Given the description of an element on the screen output the (x, y) to click on. 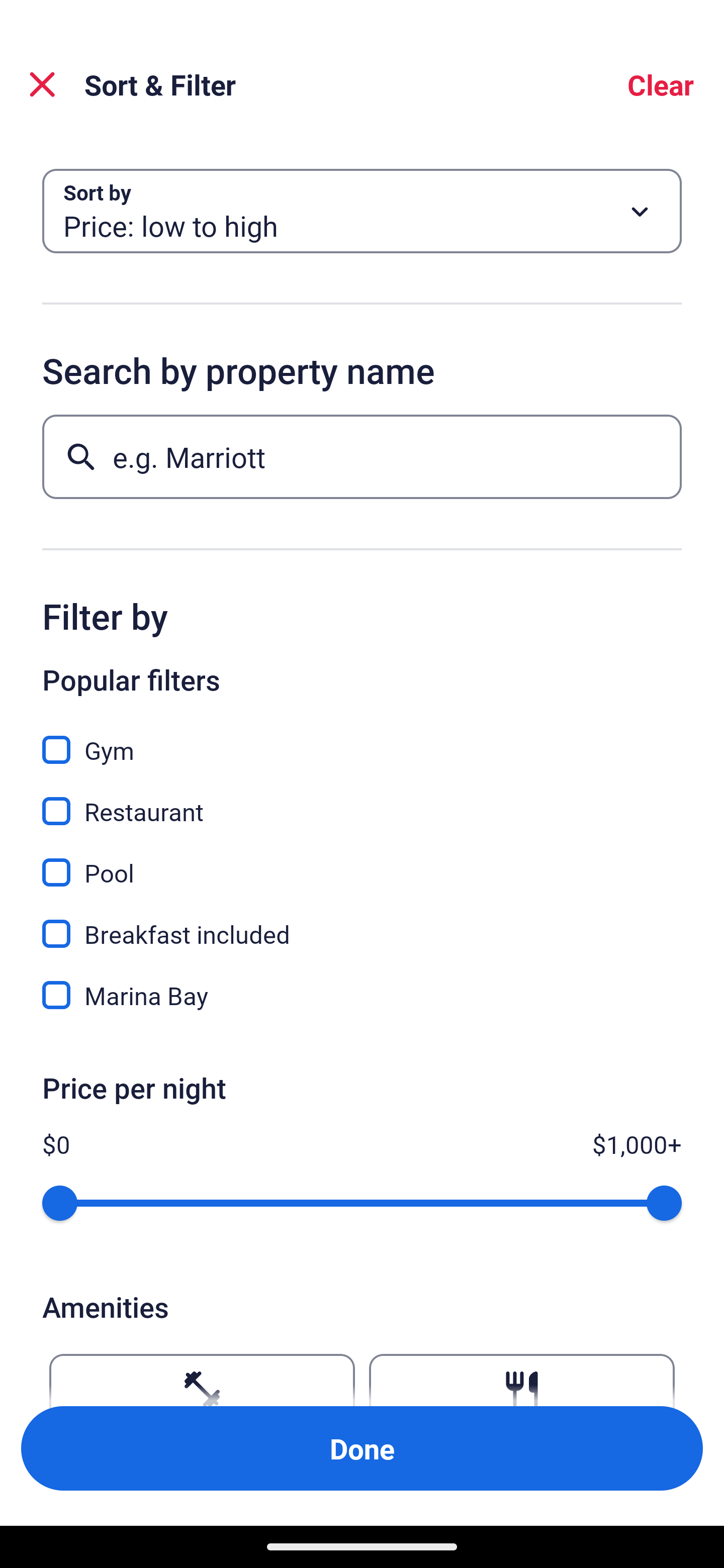
Close Sort and Filter (42, 84)
Clear (660, 84)
Sort by Button Price: low to high (361, 211)
e.g. Marriott Button (361, 455)
Gym, Gym (361, 738)
Restaurant, Restaurant (361, 800)
Pool, Pool (361, 861)
Breakfast included, Breakfast included (361, 922)
Marina Bay, Marina Bay (361, 995)
Apply and close Sort and Filter Done (361, 1448)
